Given the description of an element on the screen output the (x, y) to click on. 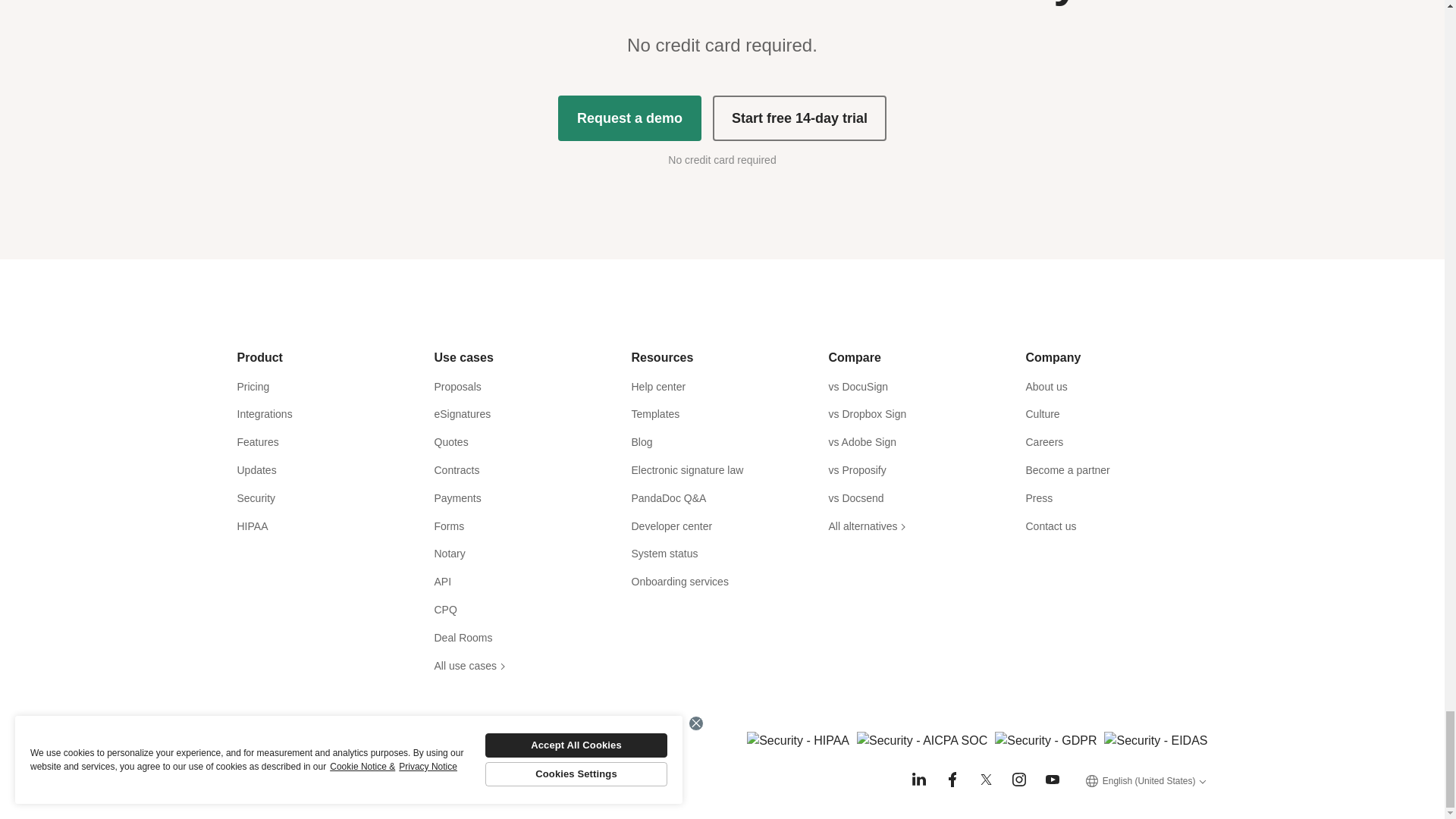
Youtube (1052, 779)
Twitter (985, 779)
Facebook (951, 779)
LinkedIn (919, 779)
Instagram (1018, 779)
